Given the description of an element on the screen output the (x, y) to click on. 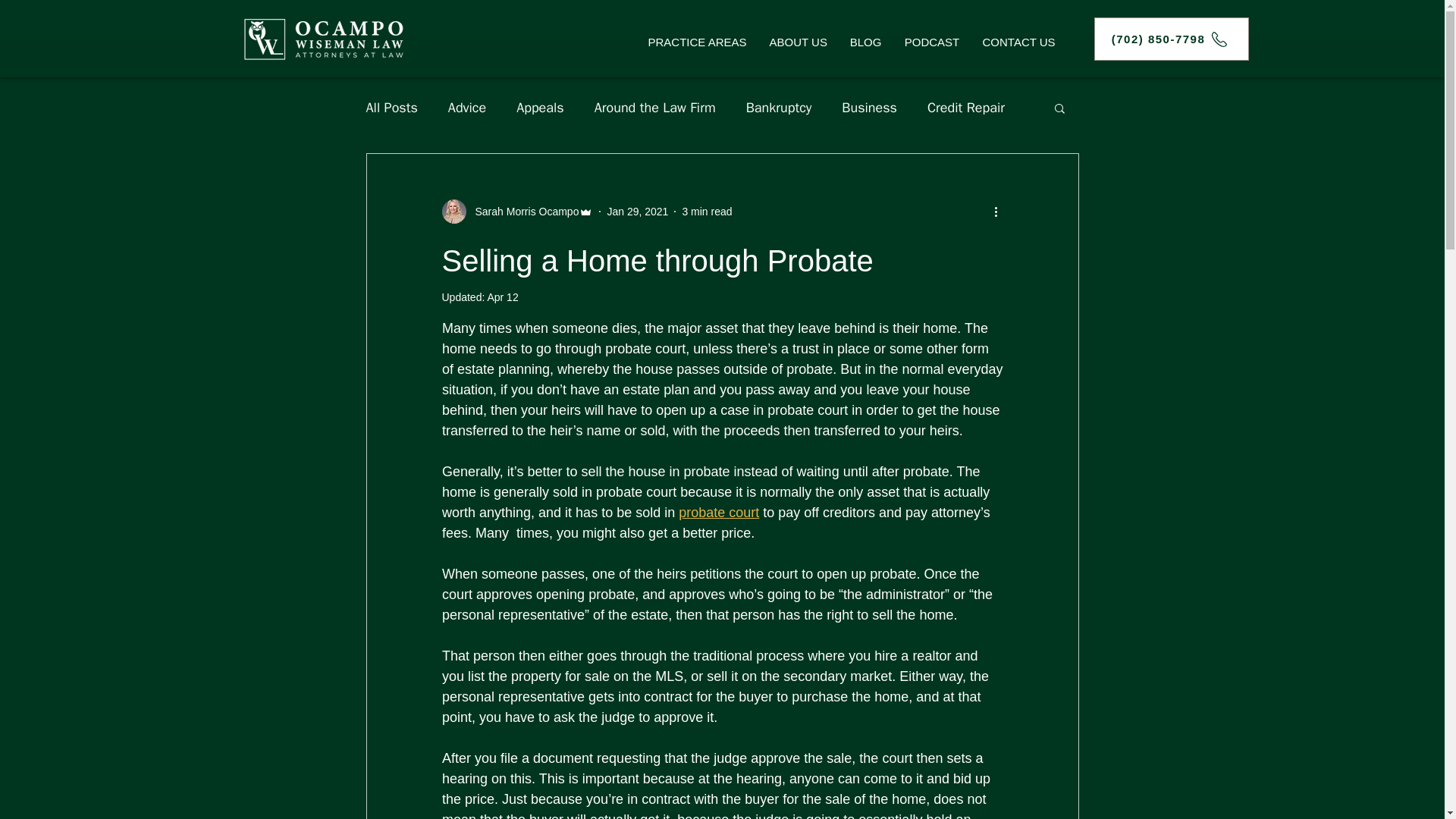
Around the Law Firm (655, 107)
BLOG (865, 42)
probate court (718, 512)
3 min read (706, 210)
Business (868, 107)
Apr 12 (502, 297)
Advice (467, 107)
PODCAST (932, 42)
All Posts (390, 107)
PRACTICE AREAS (697, 42)
ABOUT US (798, 42)
Appeals (540, 107)
Jan 29, 2021 (637, 210)
Sarah Morris Ocampo (521, 211)
Credit Repair (965, 107)
